Given the description of an element on the screen output the (x, y) to click on. 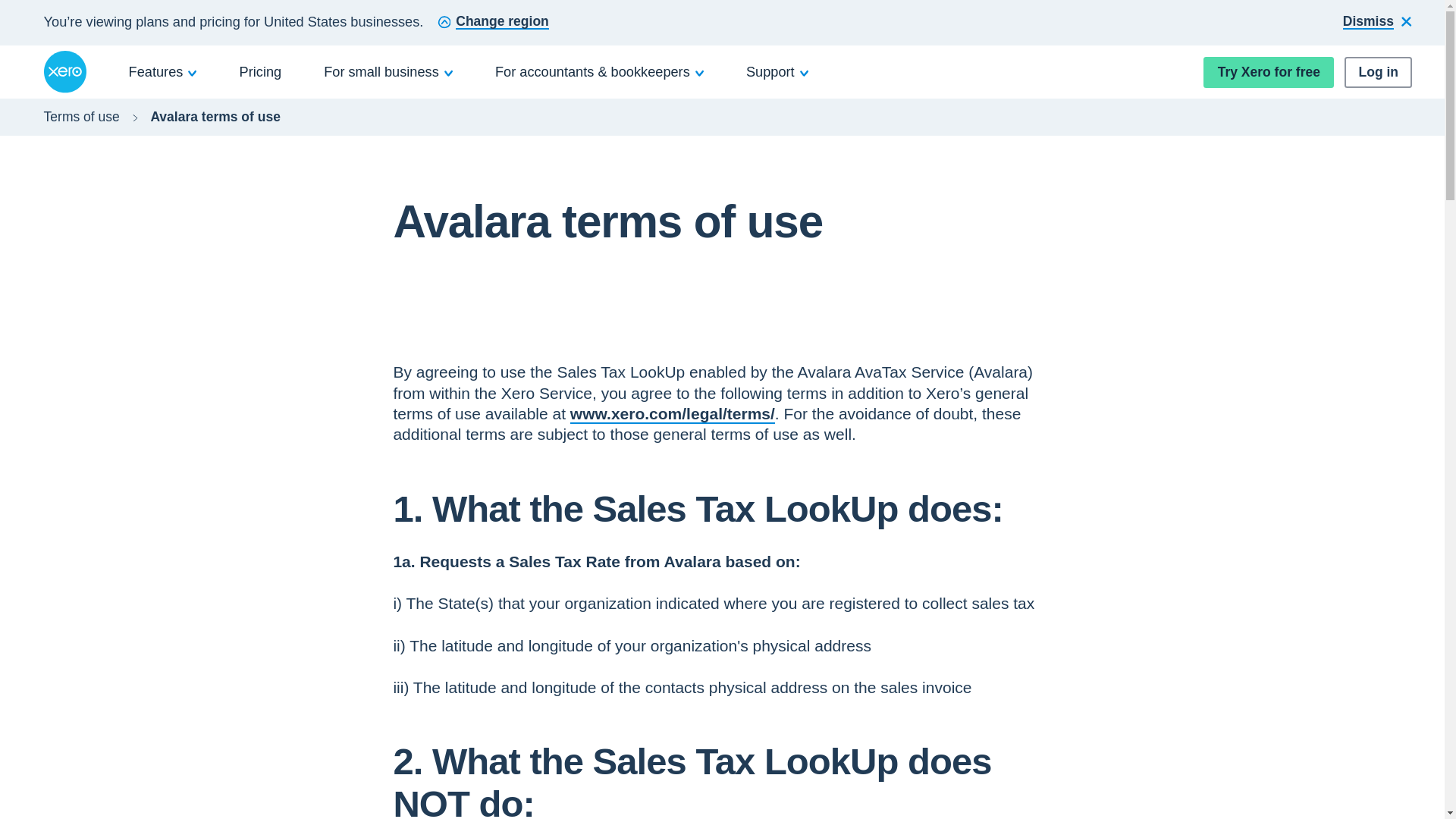
Avalara terms of use (215, 116)
Pricing (260, 71)
Change region (493, 23)
Log in (1377, 71)
Support (777, 71)
Terms of use (81, 116)
Try Xero for free (1268, 71)
Dismiss (1377, 23)
Features (162, 71)
For small business (388, 71)
